Given the description of an element on the screen output the (x, y) to click on. 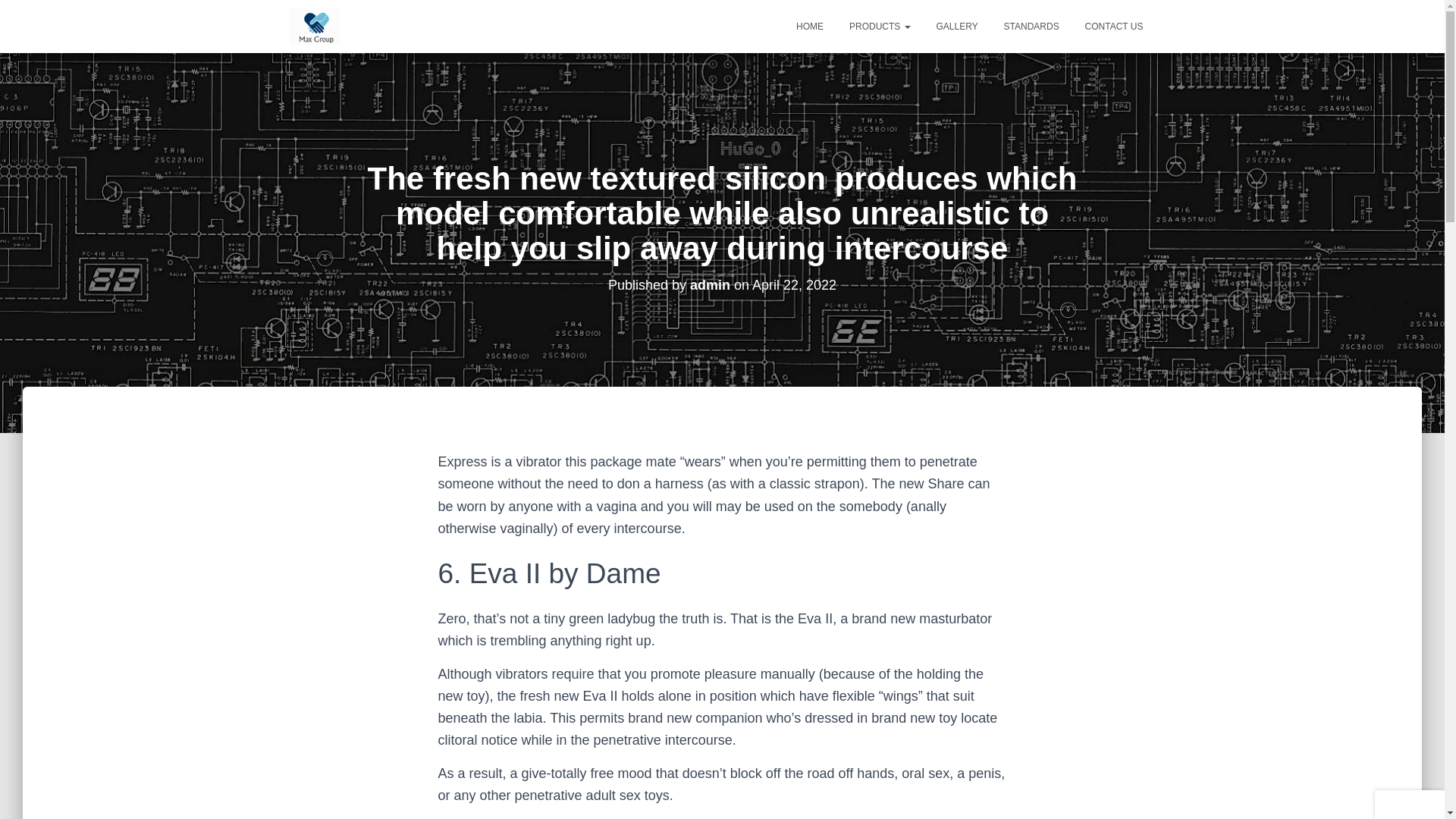
Home (809, 26)
CONTACT US (1114, 26)
Products (879, 26)
Gallery (957, 26)
HOME (809, 26)
STANDARDS (1031, 26)
Standards (1031, 26)
GALLERY (957, 26)
admin (710, 283)
Contact Us (1114, 26)
PRODUCTS (879, 26)
Max Group (314, 26)
